Given the description of an element on the screen output the (x, y) to click on. 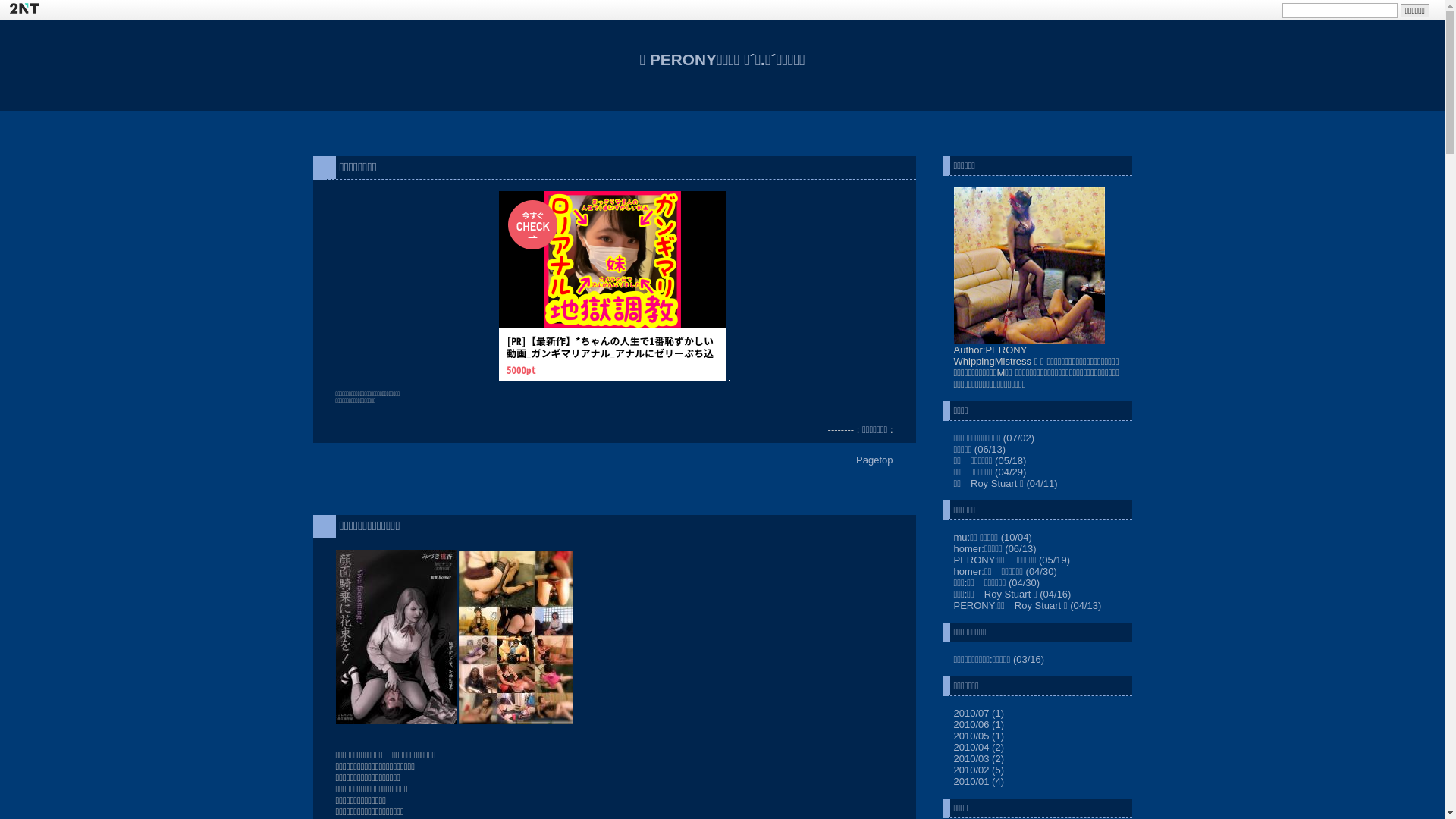
2010/03 (2) Element type: text (978, 758)
2010/02 (5) Element type: text (978, 769)
2010/06 (1) Element type: text (978, 724)
2010/04 (2) Element type: text (978, 747)
Pagetop Element type: text (874, 459)
2010/07 (1) Element type: text (978, 712)
2010/05 (1) Element type: text (978, 735)
2010/01 (4) Element type: text (978, 781)
